Given the description of an element on the screen output the (x, y) to click on. 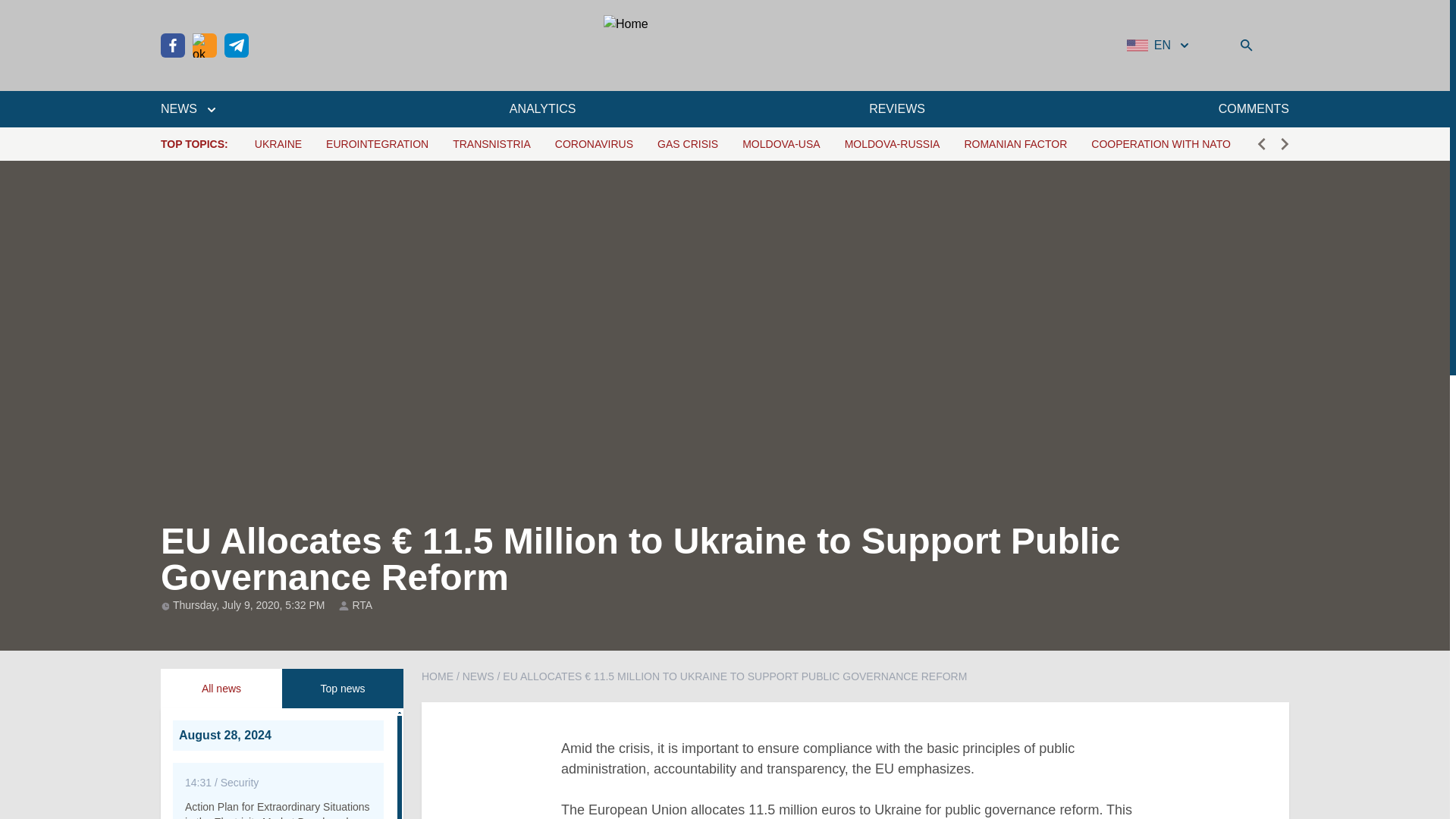
MOLDOVA-RUSSIA (892, 143)
Top news (342, 688)
Thursday, July 9, 2020, 5:32 PM (250, 604)
TRANSNISTRIA (491, 143)
CORONAVIRUS (593, 143)
EUROINTEGRATION (377, 143)
UKRAINE (277, 143)
EN (1159, 45)
REVIEWS (896, 108)
